Given the description of an element on the screen output the (x, y) to click on. 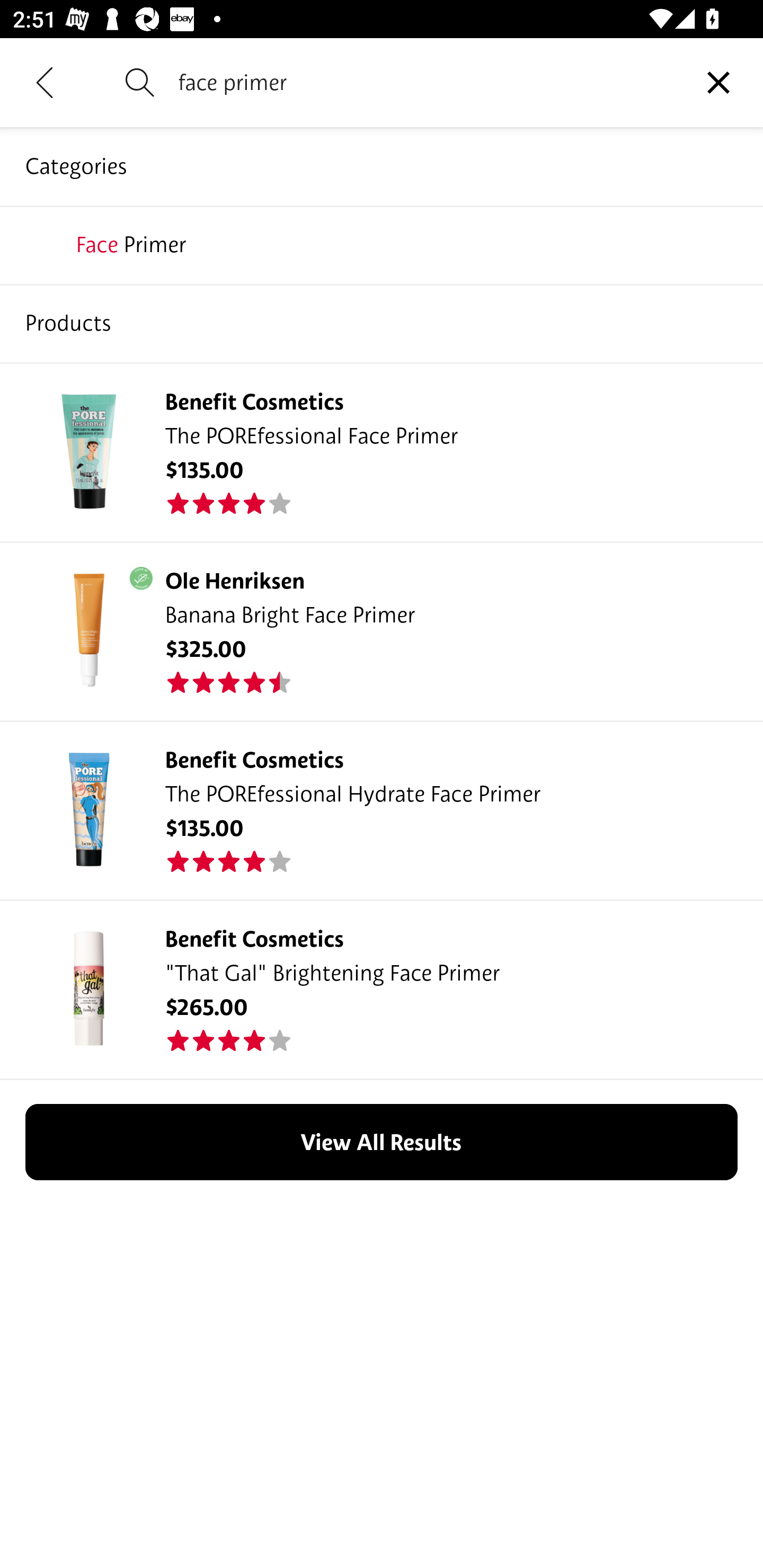
Navigate up (44, 82)
Clear query (718, 81)
face primer (425, 82)
sephora collection (381, 244)
supergoop! (381, 322)
View All Results (381, 1141)
